Given the description of an element on the screen output the (x, y) to click on. 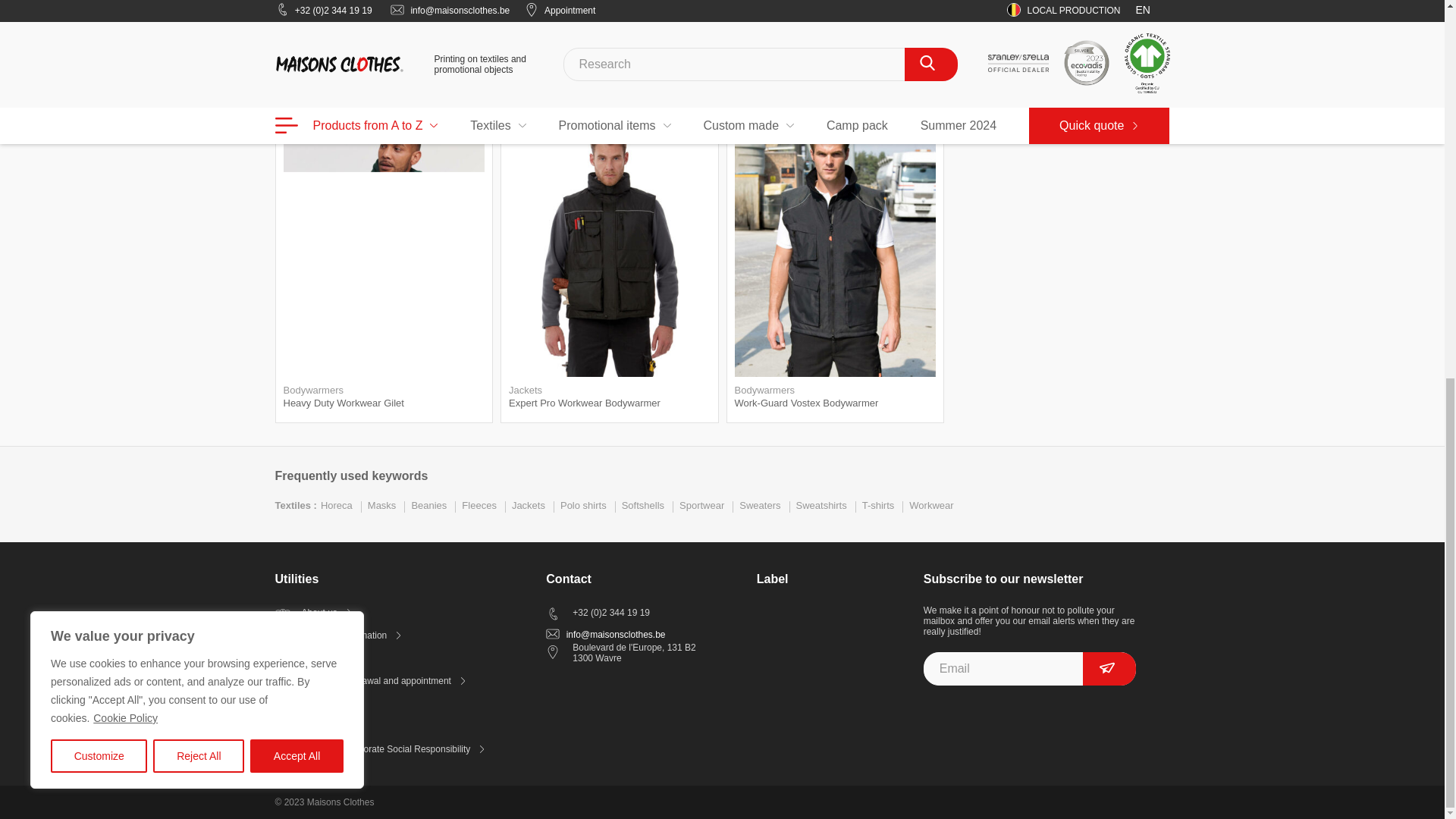
Reject All (198, 56)
Customize (98, 56)
Cookie Policy (125, 18)
Accept All (296, 56)
